Given the description of an element on the screen output the (x, y) to click on. 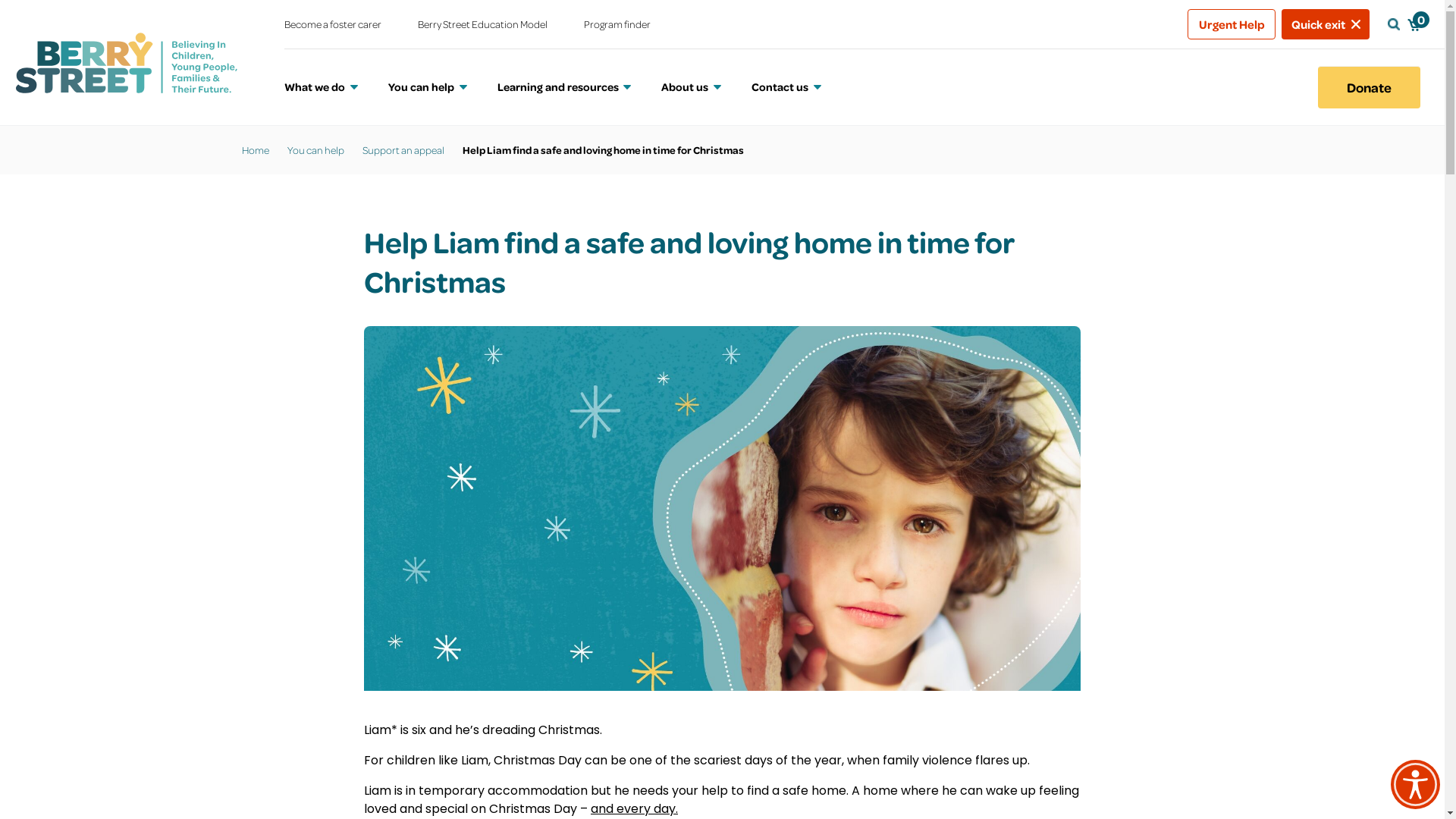
0
Berry Street cart icon Element type: text (1413, 24)
About us Element type: text (691, 87)
Berry Street Education Model Element type: text (482, 23)
You can help Element type: text (314, 150)
Quick exit Element type: text (1325, 24)
Home Element type: text (254, 150)
Become a foster carer Element type: text (332, 23)
Berry street logo Element type: text (126, 62)
Urgent Help Element type: text (1231, 24)
Support an appeal Element type: text (403, 150)
Contact us Element type: text (786, 87)
Learning and resources Element type: text (564, 87)
Program finder Element type: text (616, 23)
You can help Element type: text (427, 87)
Donate Element type: text (1368, 86)
What we do Element type: text (320, 87)
